Given the description of an element on the screen output the (x, y) to click on. 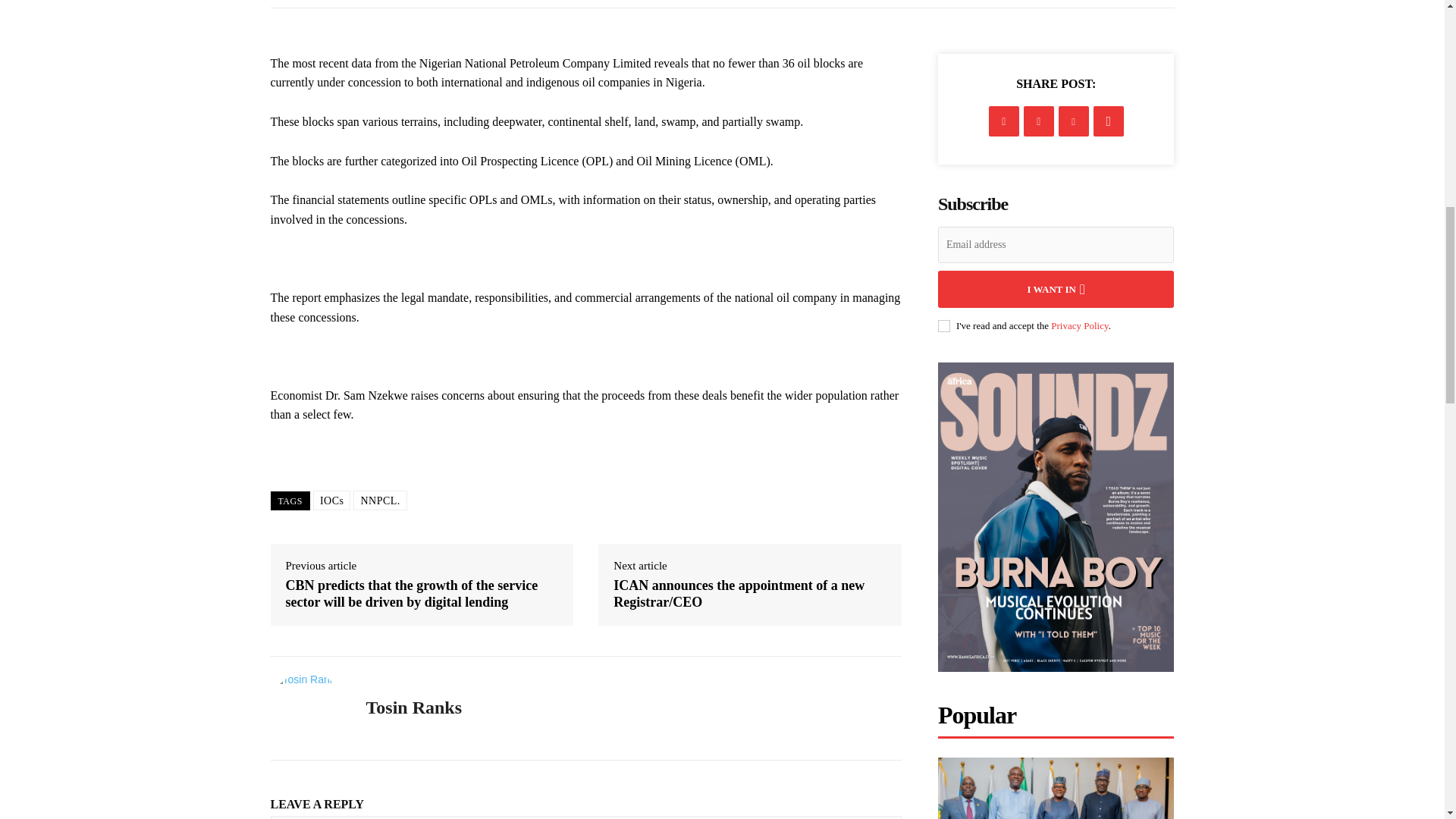
WhatsApp (1108, 121)
Twitter (1038, 121)
Facebook (1003, 121)
Pinterest (1073, 121)
Tosin Ranks (305, 707)
